Given the description of an element on the screen output the (x, y) to click on. 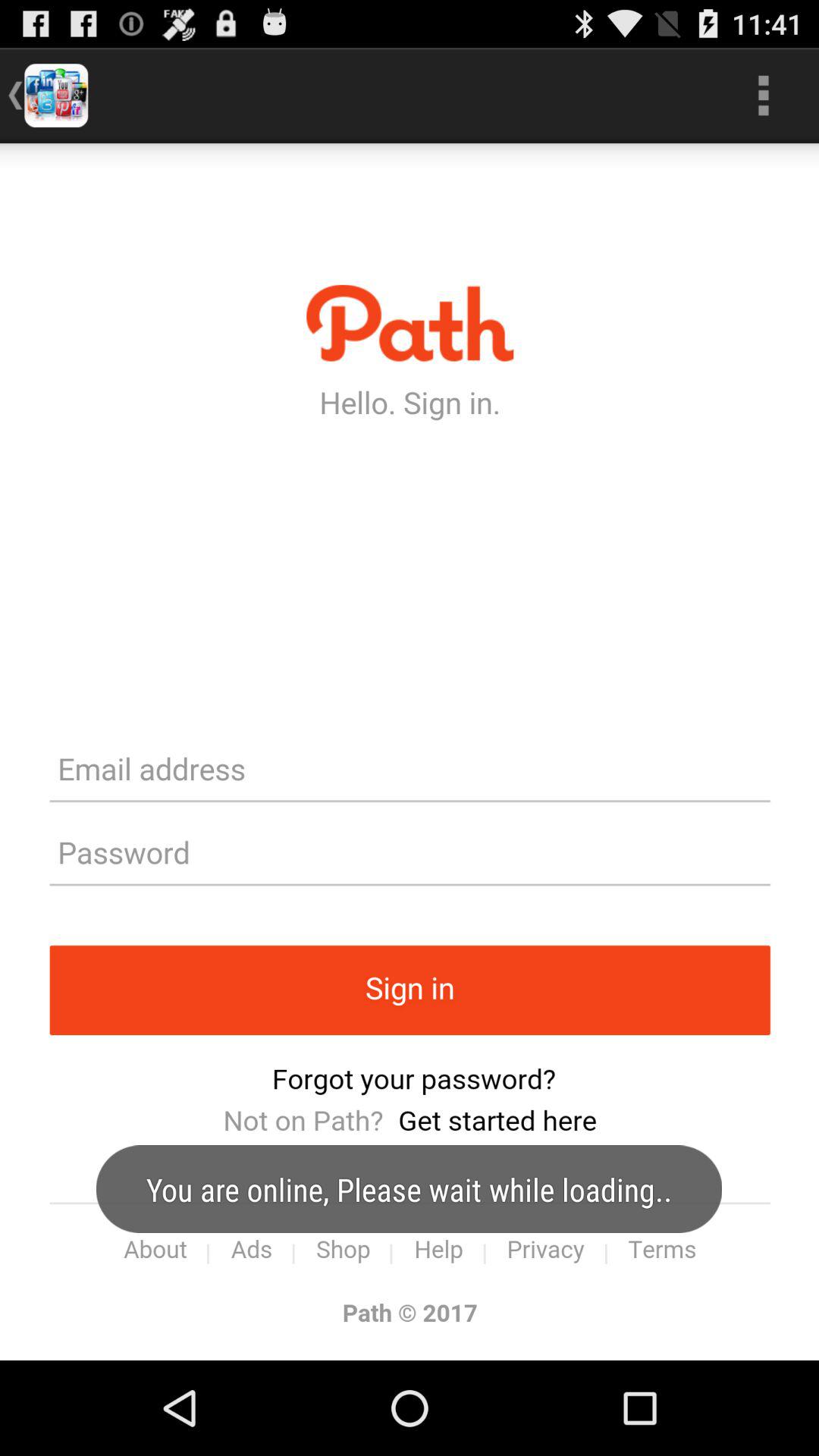
web page (409, 751)
